Given the description of an element on the screen output the (x, y) to click on. 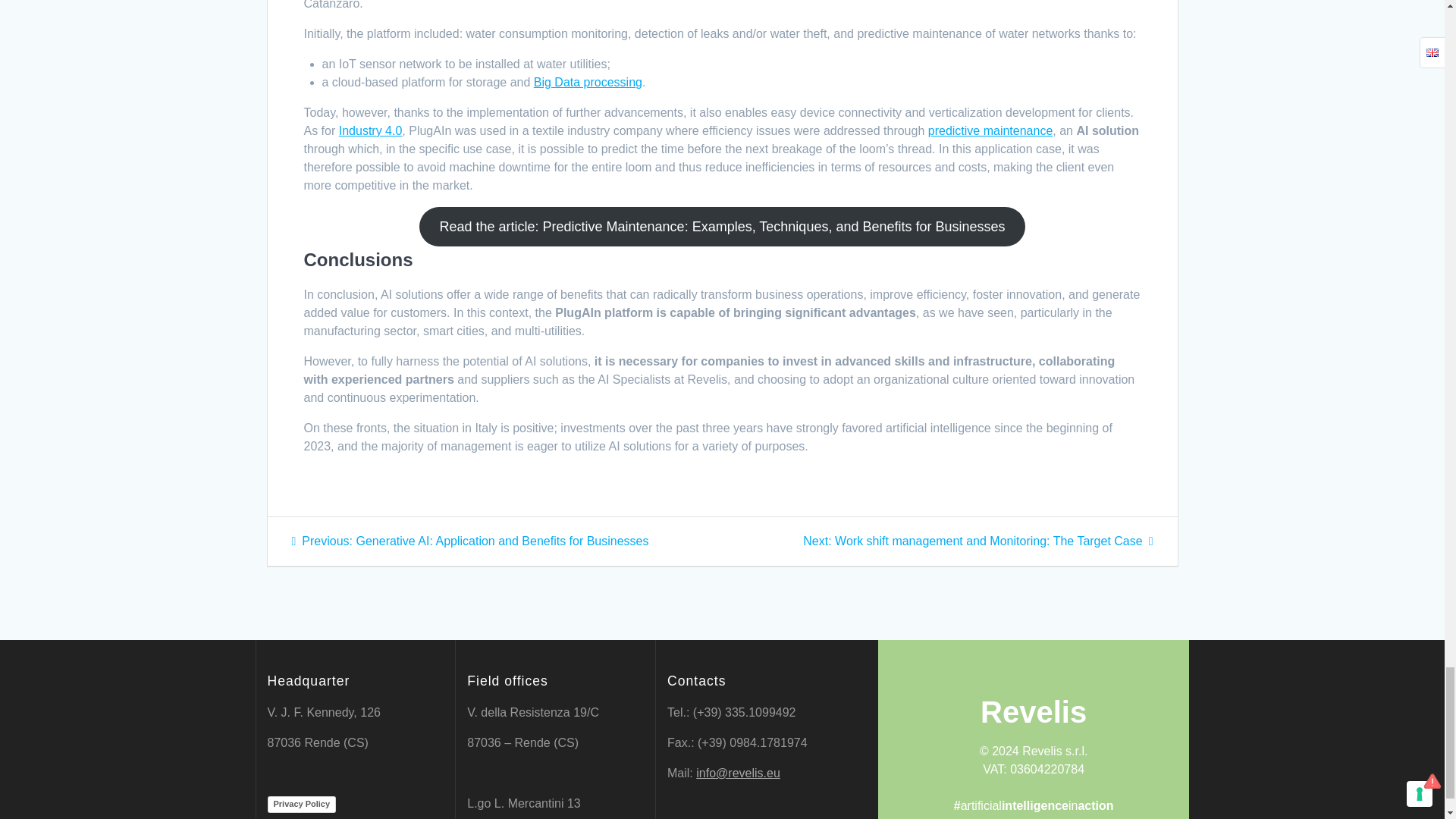
Privacy Policy (301, 804)
